Given the description of an element on the screen output the (x, y) to click on. 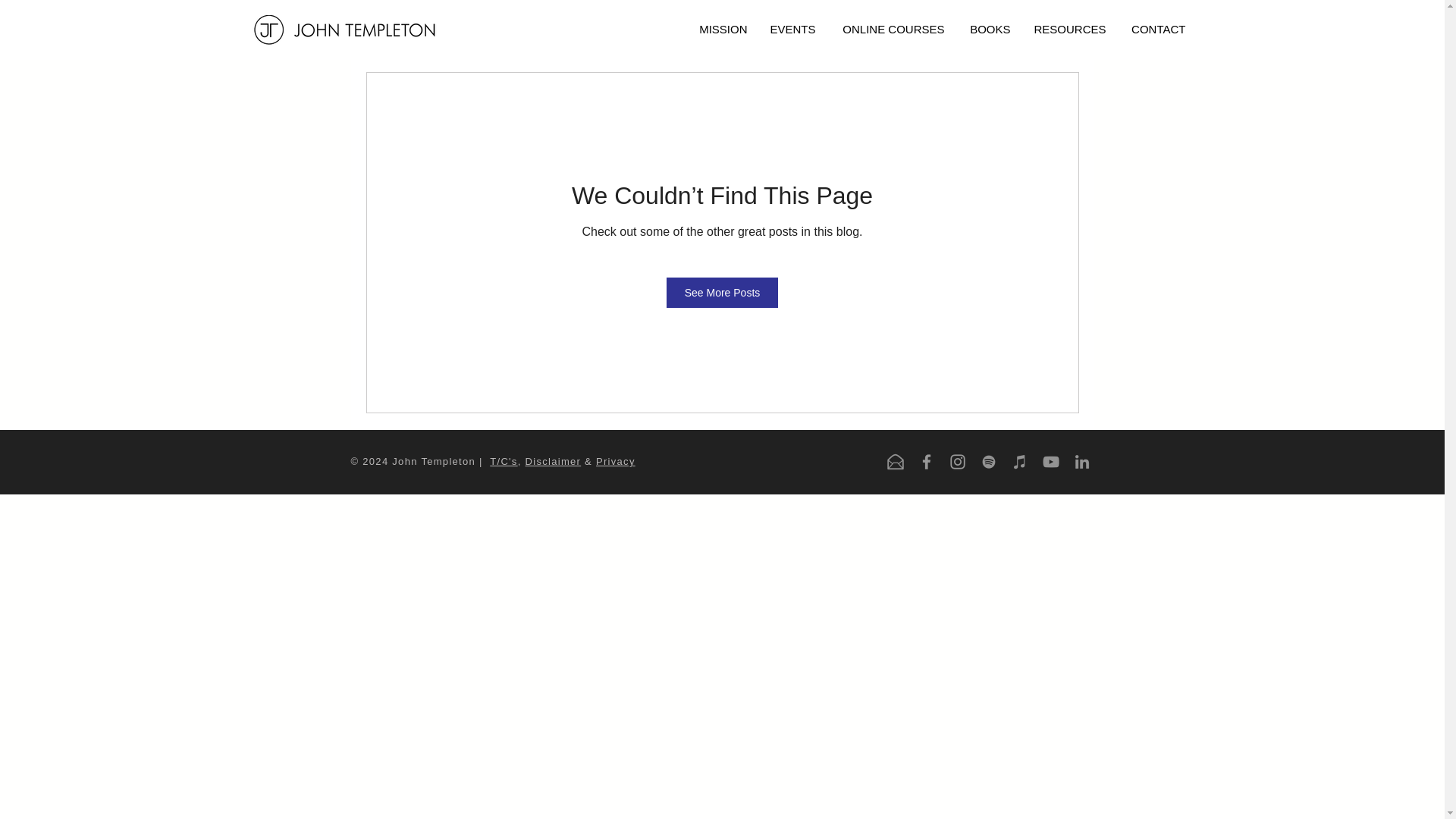
BOOKS (988, 29)
See More Posts (722, 292)
MISSION (721, 29)
CONTACT (1157, 29)
Privacy (614, 460)
Disclaimer (552, 460)
